Given the description of an element on the screen output the (x, y) to click on. 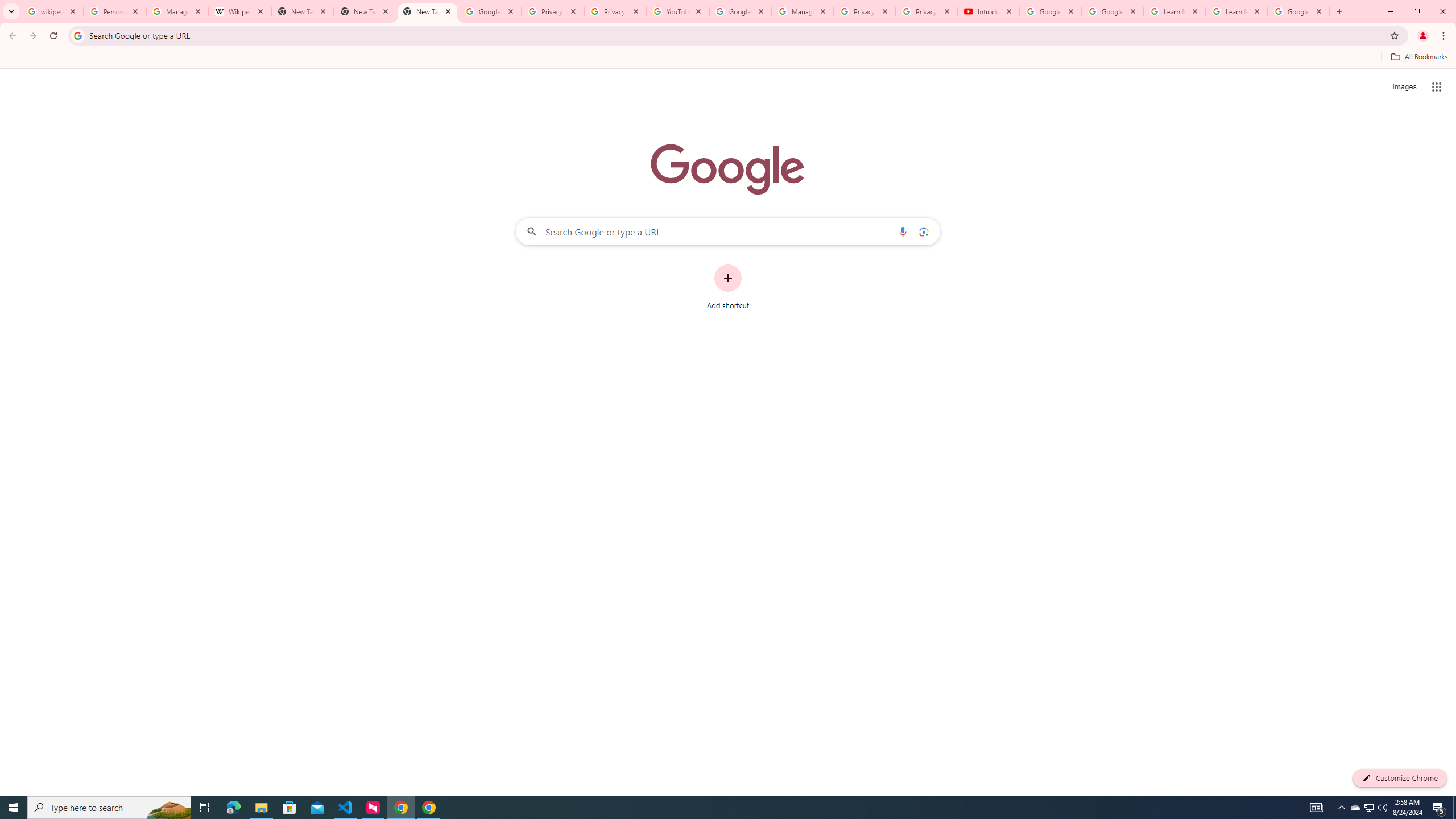
All Bookmarks (1418, 56)
Google Account Help (1050, 11)
Google Drive: Sign-in (490, 11)
